Given the description of an element on the screen output the (x, y) to click on. 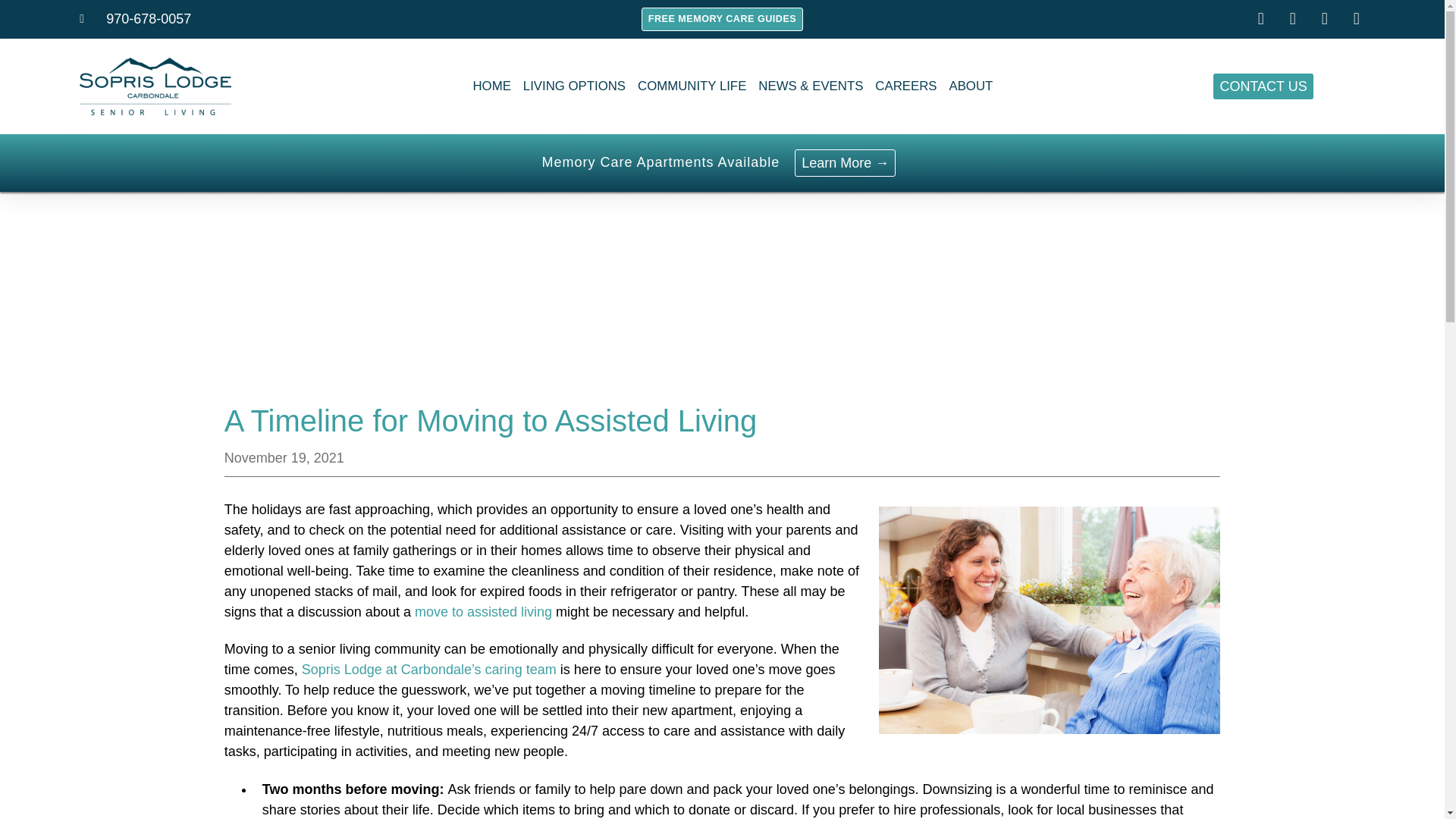
FREE MEMORY CARE GUIDES (722, 19)
COMMUNITY LIFE (691, 86)
CAREERS (905, 86)
ABOUT (970, 86)
LIVING OPTIONS (573, 86)
HOME (490, 86)
970-678-0057 (135, 19)
